Given the description of an element on the screen output the (x, y) to click on. 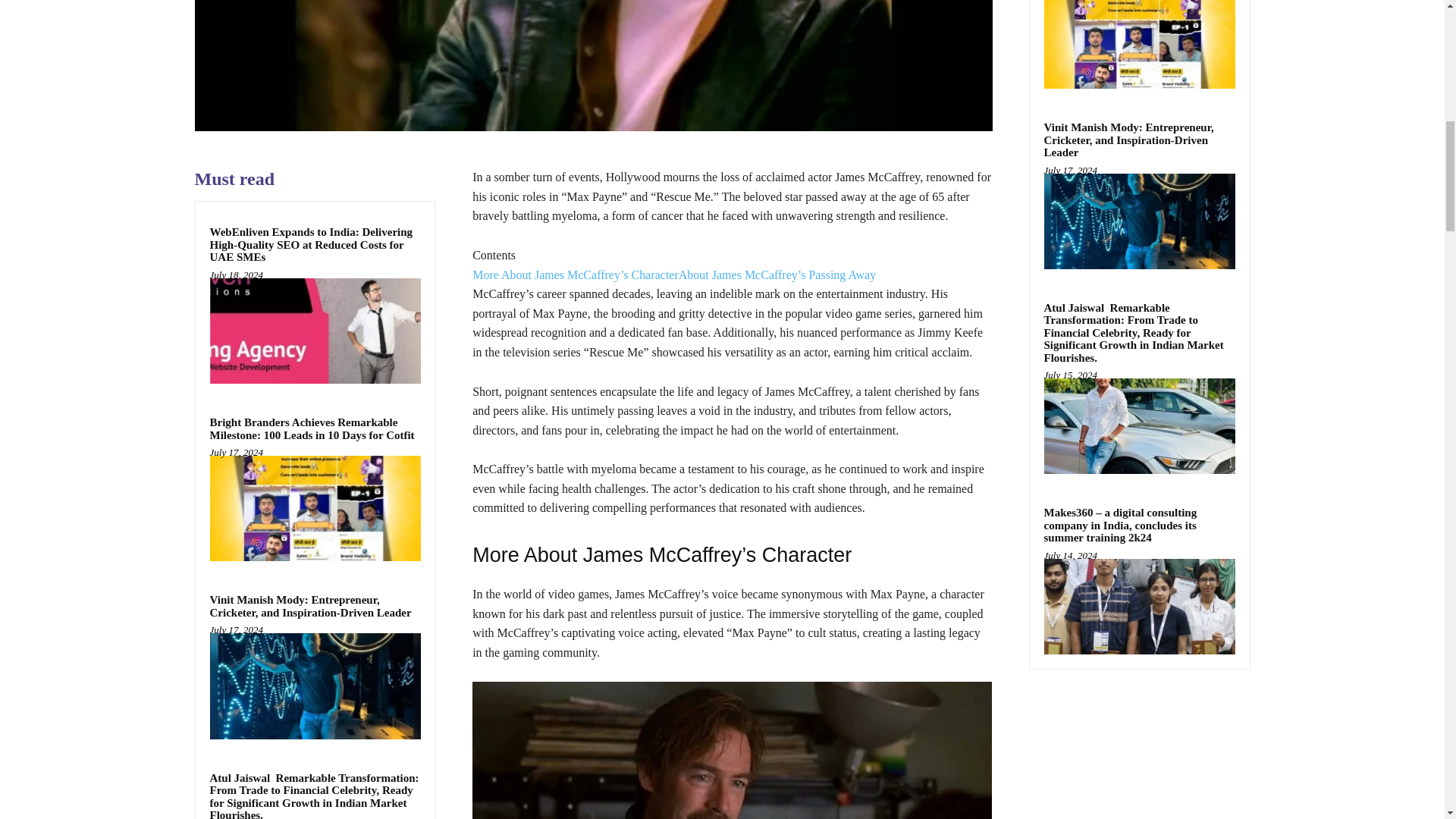
james-mccaffrey-scandal (592, 65)
